Given the description of an element on the screen output the (x, y) to click on. 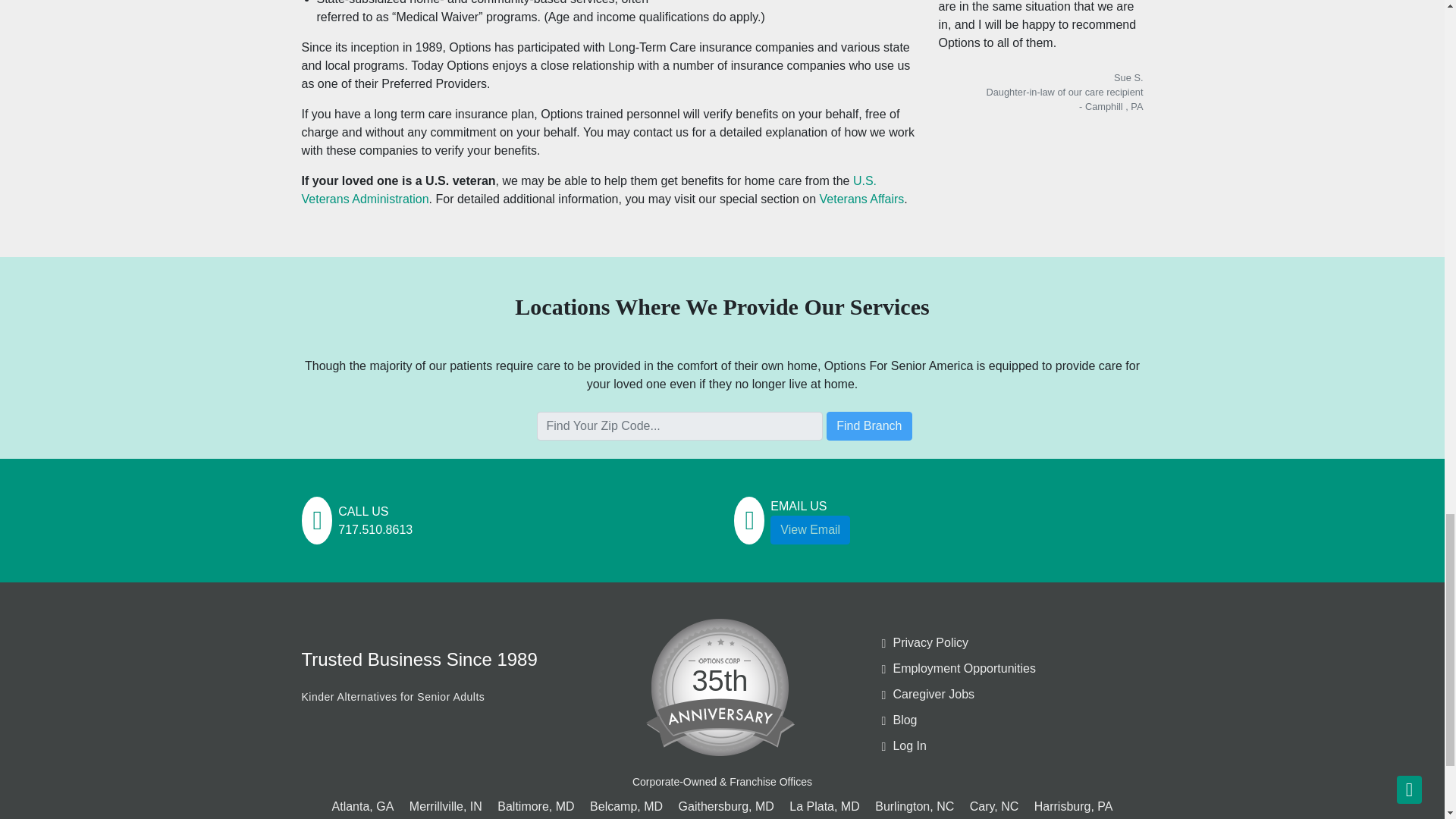
Privacy Policy (1015, 642)
Find Branch (869, 425)
Caregiver Jobs (1015, 694)
View Email (810, 529)
Blog (1015, 720)
U.S. Veterans Administration (589, 189)
Employment Opportunities (1015, 669)
Log In (1015, 746)
Merrillville, IN (445, 806)
Atlanta, GA (362, 806)
Veterans Affairs (861, 198)
717.510.8613 (374, 529)
